Given the description of an element on the screen output the (x, y) to click on. 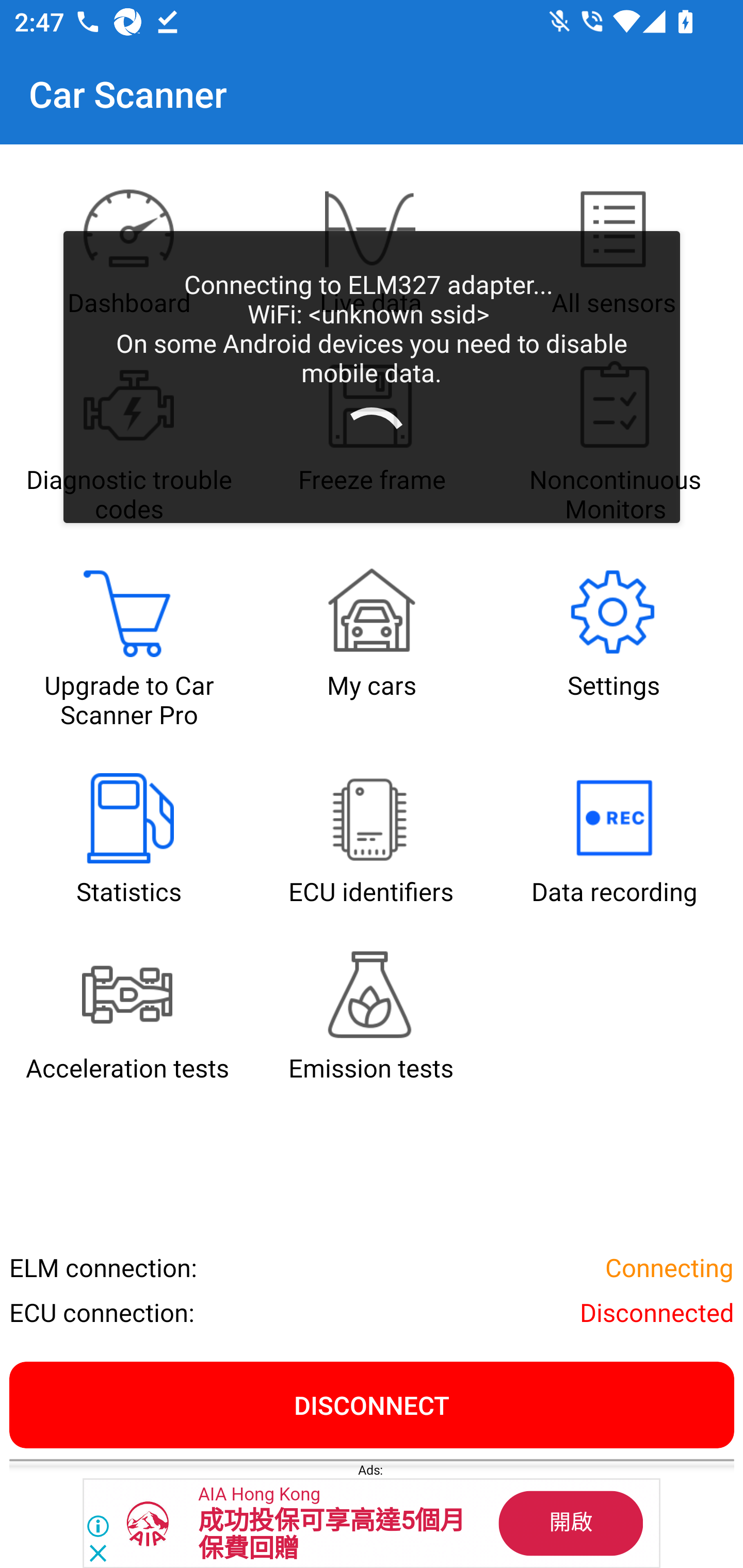
DISCONNECT (371, 1404)
